Given the description of an element on the screen output the (x, y) to click on. 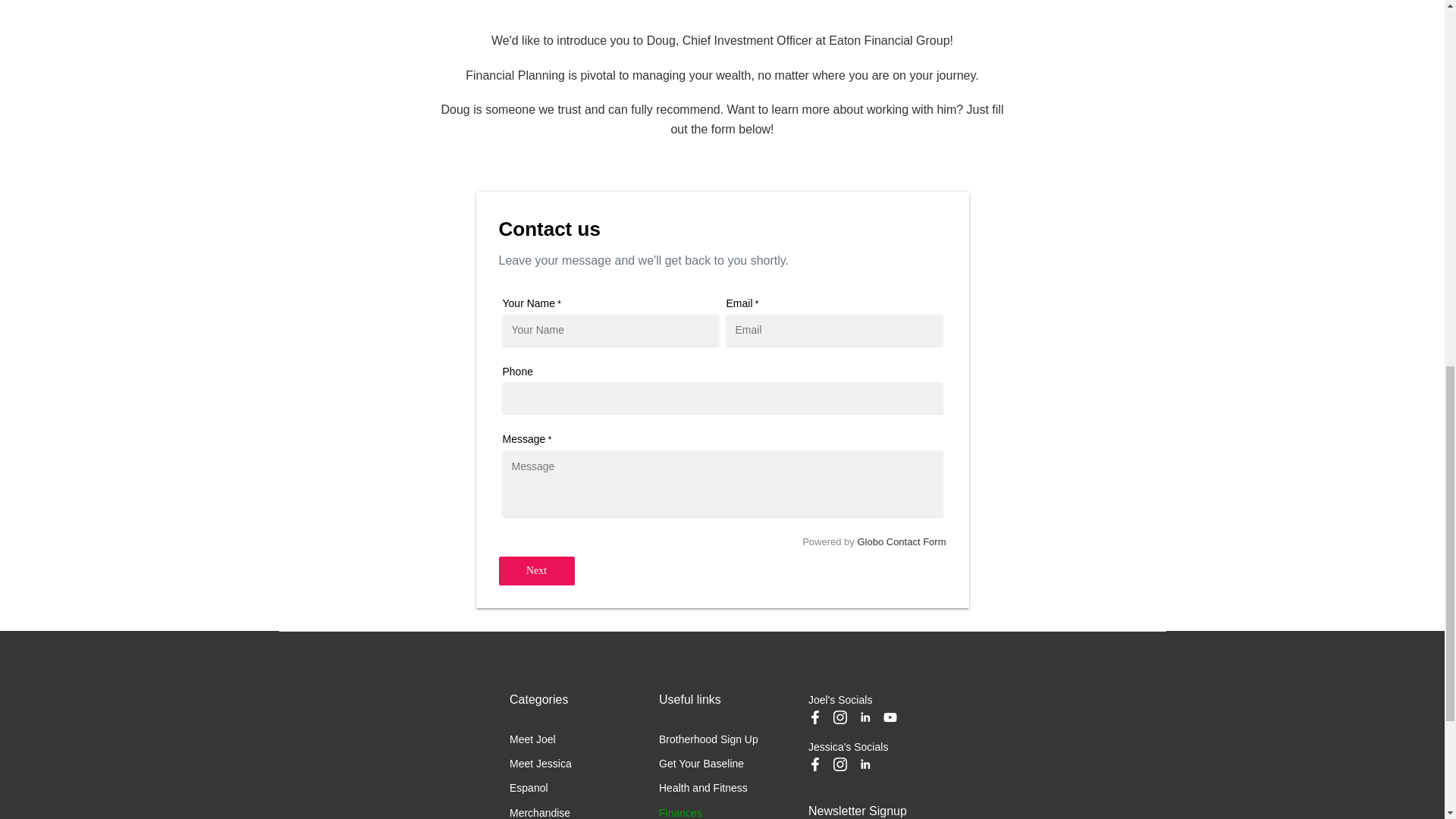
Contact Form (916, 541)
Next (537, 570)
Globo (870, 541)
